Given the description of an element on the screen output the (x, y) to click on. 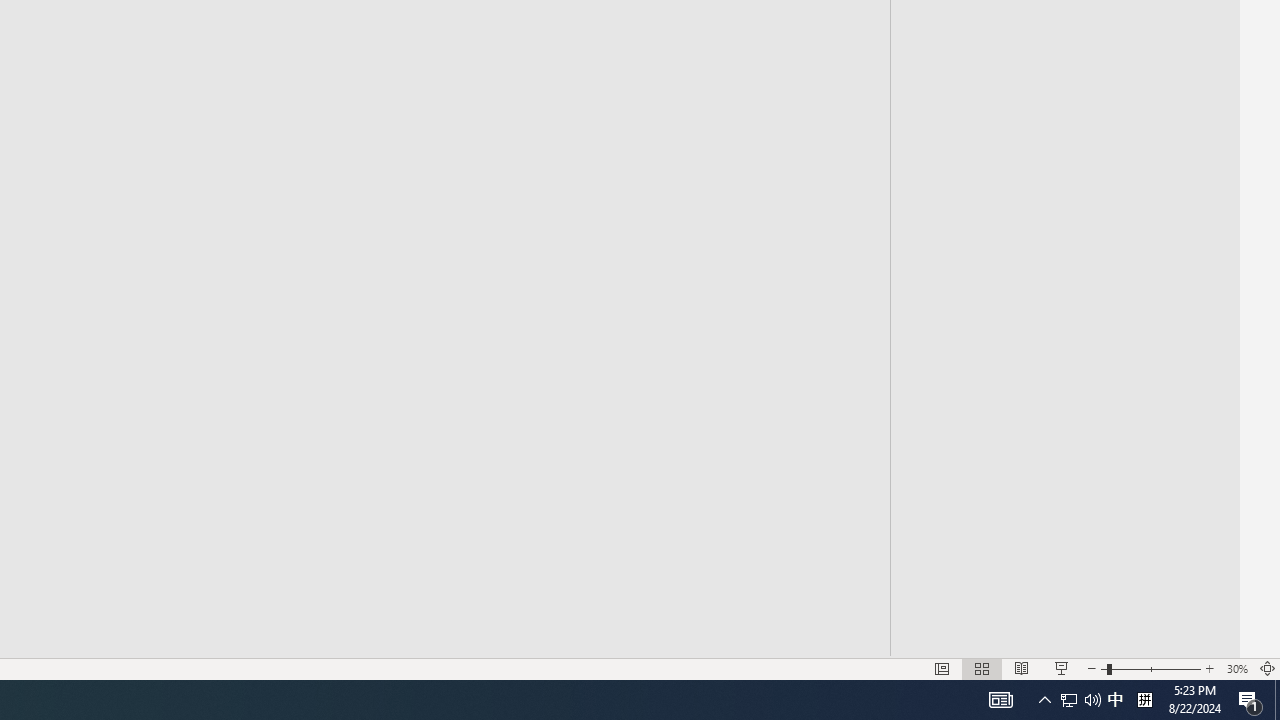
Zoom 30% (1236, 668)
